Given the description of an element on the screen output the (x, y) to click on. 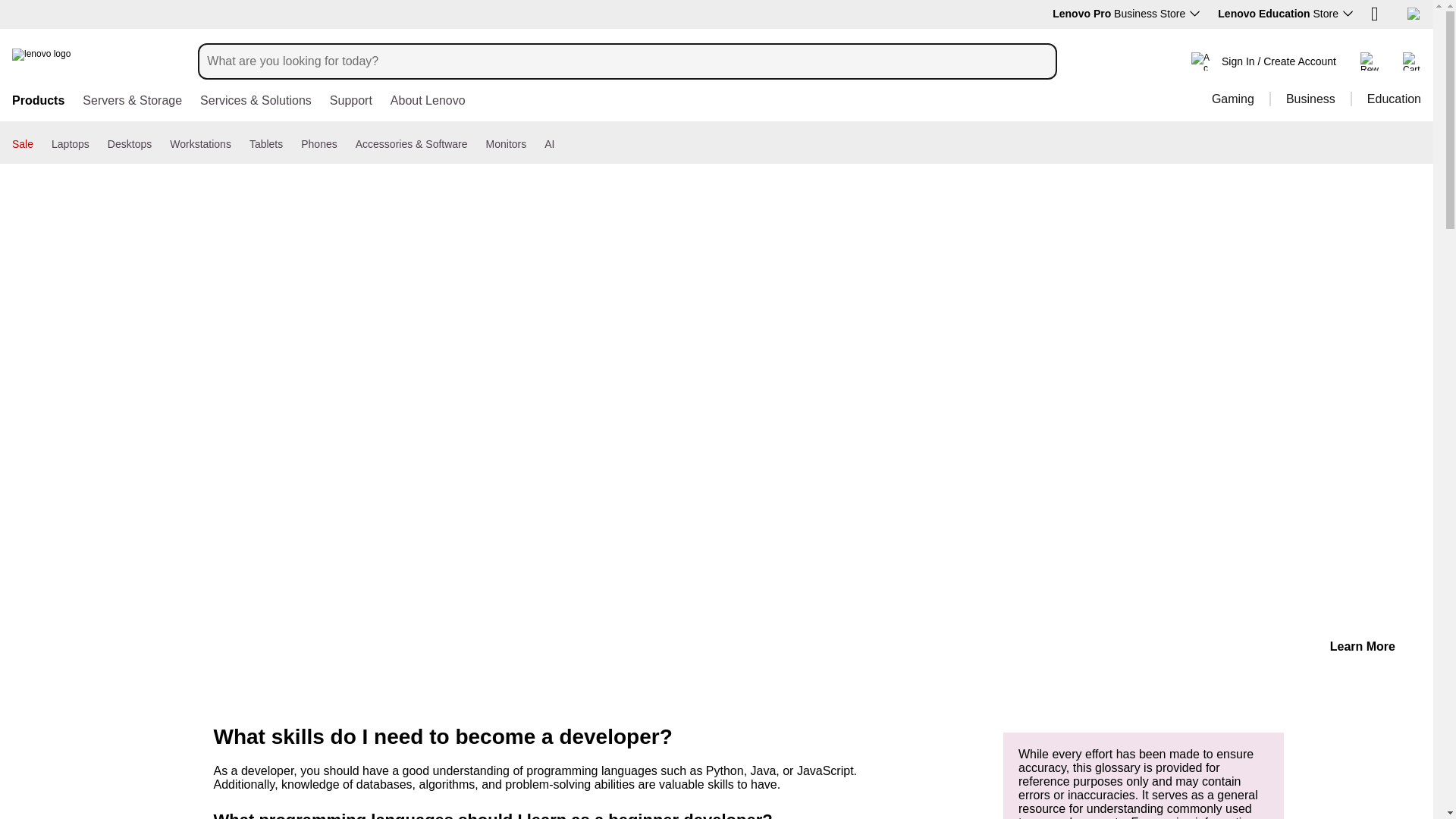
Laptops (69, 144)
Phones (318, 144)
Gaming (1232, 98)
Desktops (129, 144)
Support (351, 102)
Tablets (265, 144)
Sale (22, 144)
Learn More (1362, 646)
About Lenovo (427, 102)
Education (1386, 98)
Lenovo Education Store (1284, 13)
Monitors (506, 144)
Workstations (200, 144)
Lenovo Pro Business Store (1125, 13)
Business (1310, 98)
